Given the description of an element on the screen output the (x, y) to click on. 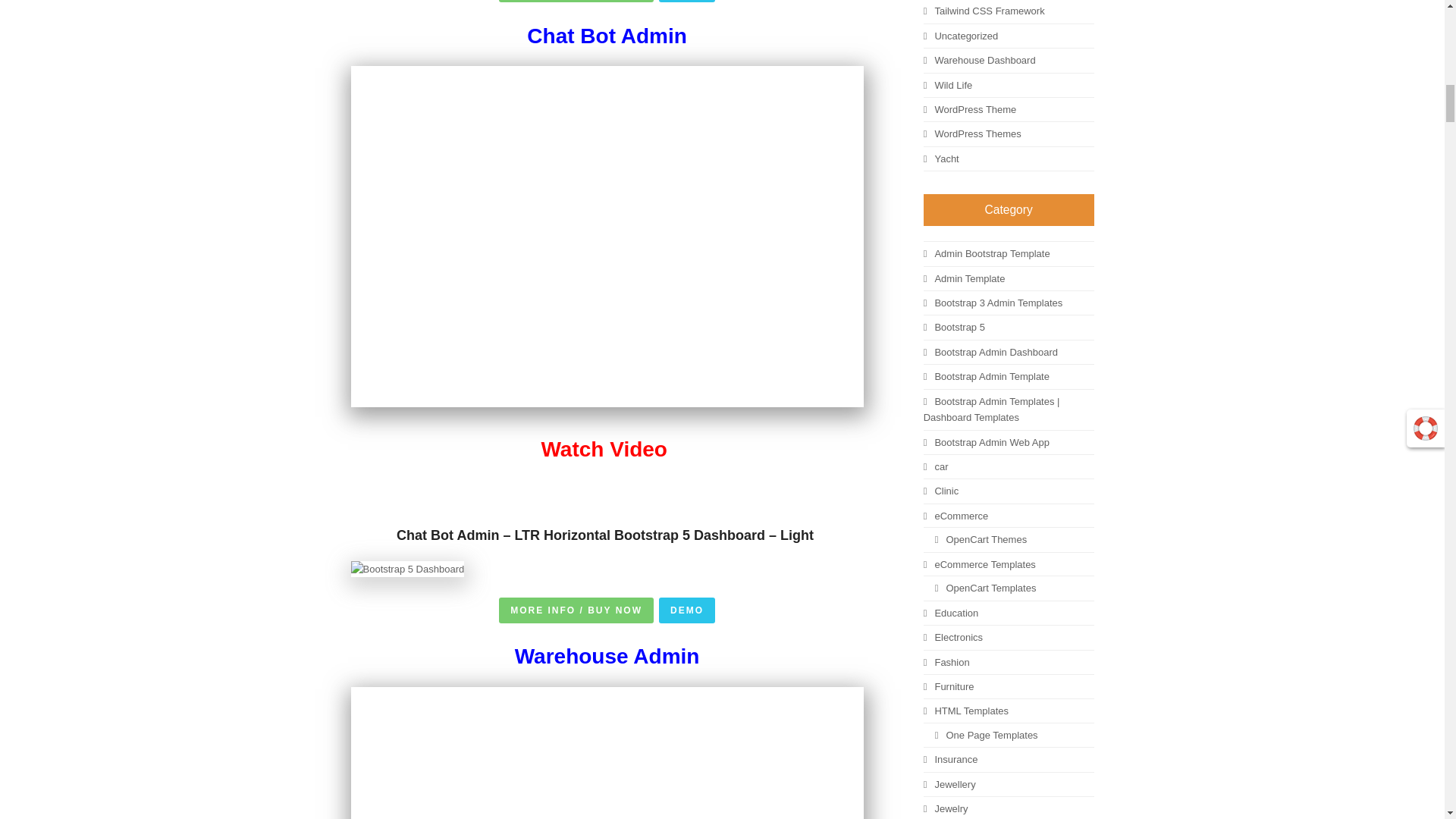
DEMO (686, 610)
DEMO (686, 1)
YouTube video player (606, 753)
